Given the description of an element on the screen output the (x, y) to click on. 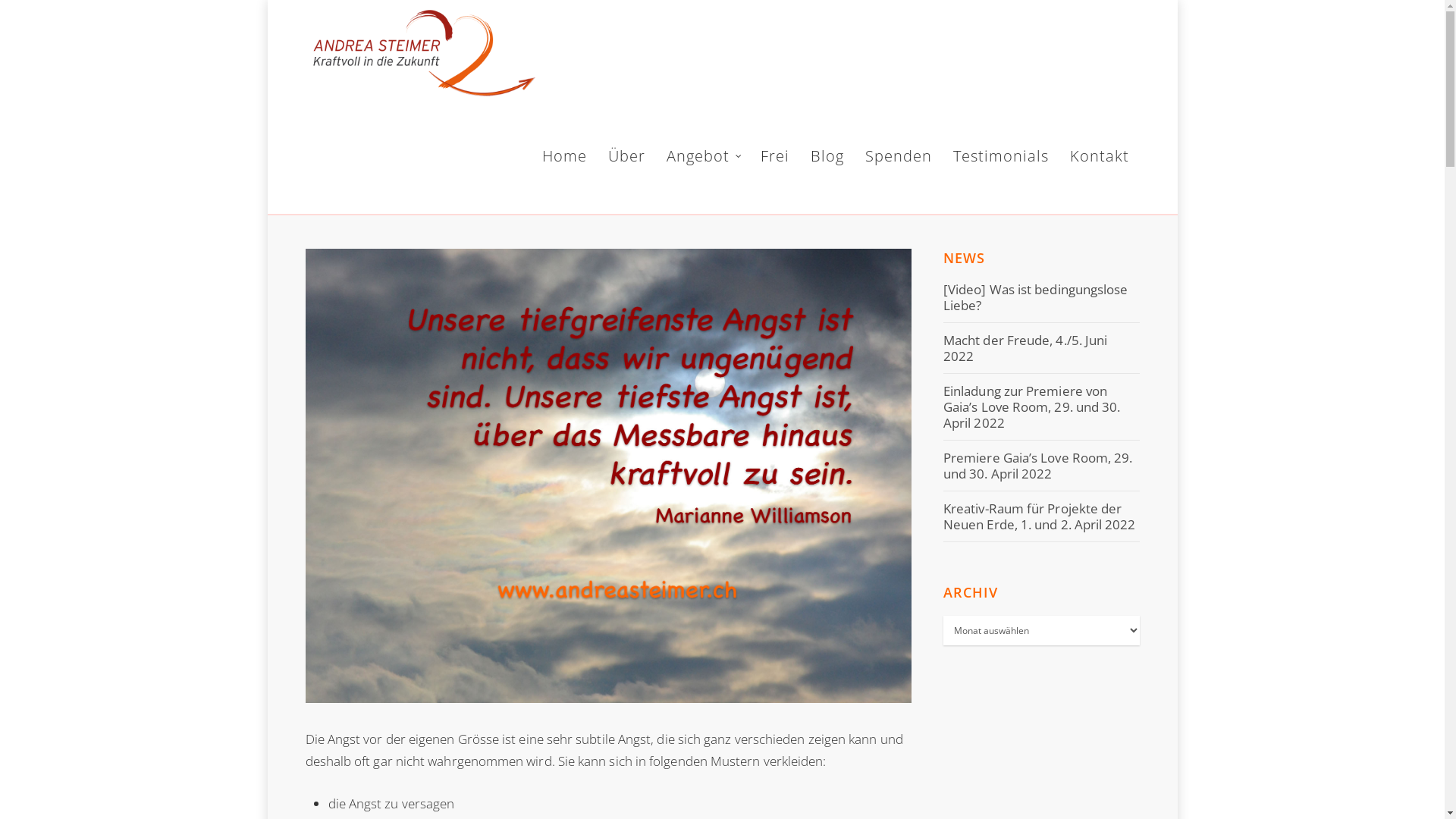
[Video] Was ist bedingungslose Liebe? Element type: text (1035, 296)
Home Element type: text (564, 158)
Testimonials Element type: text (1000, 158)
Kontakt Element type: text (1099, 158)
Spenden Element type: text (898, 158)
Frei Element type: text (774, 158)
Angebot Element type: text (702, 158)
Blog Element type: text (826, 158)
Macht der Freude, 4./5. Juni 2022 Element type: text (1025, 347)
